Given the description of an element on the screen output the (x, y) to click on. 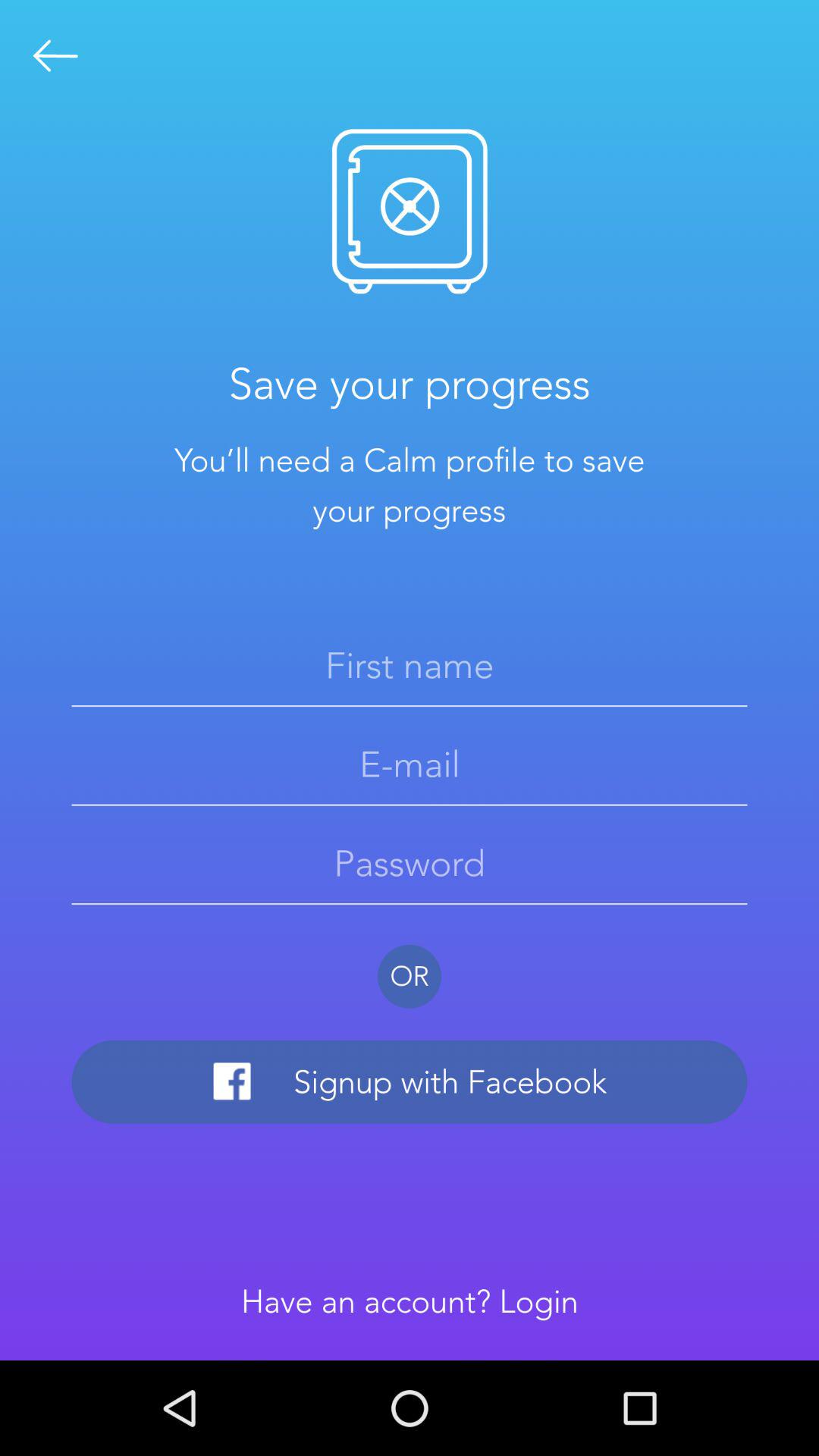
set a password (409, 862)
